Given the description of an element on the screen output the (x, y) to click on. 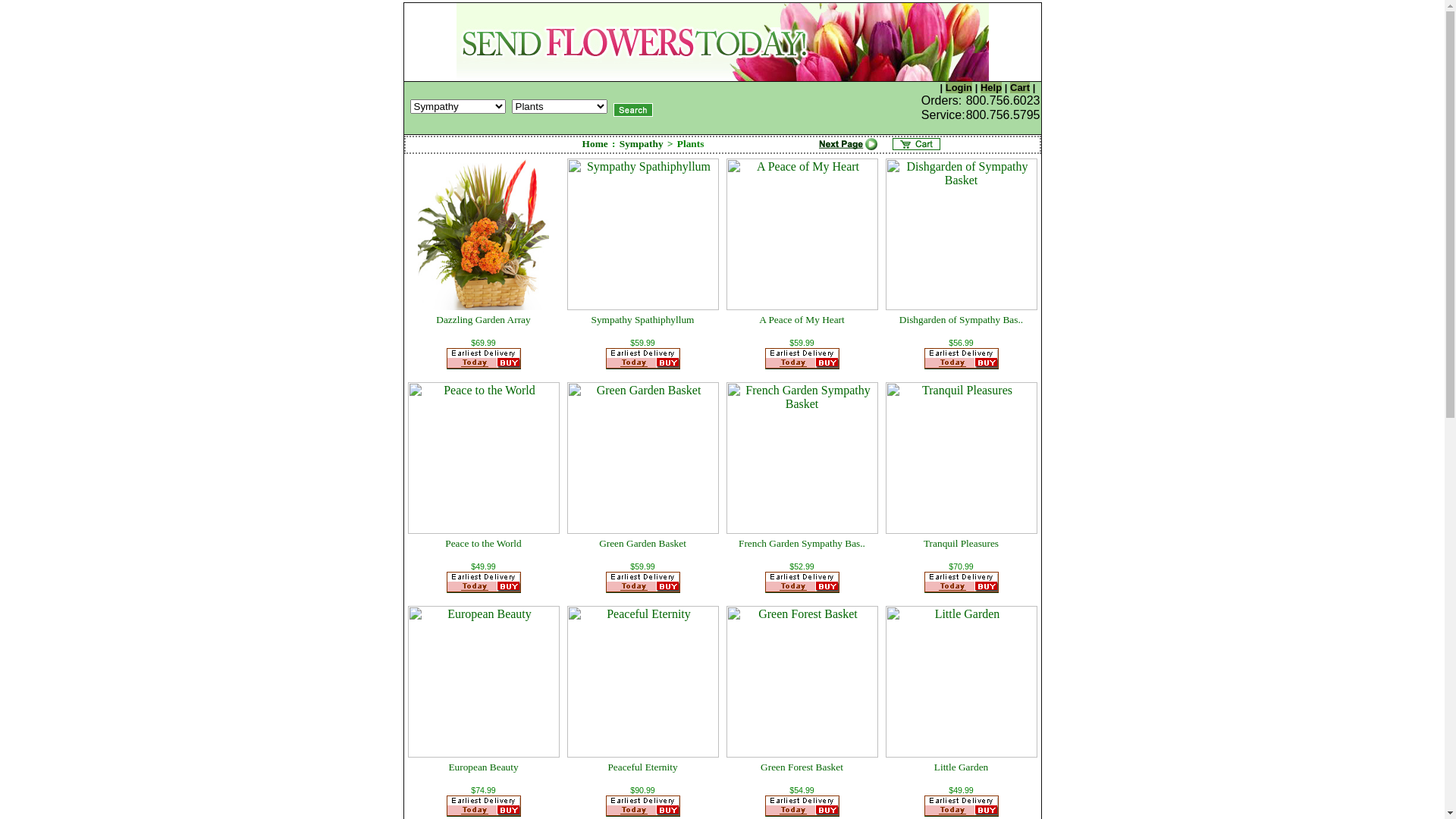
French Garden Sympathy Bas.. Element type: text (801, 543)
Cart Element type: text (1019, 87)
Sympathy Spathiphyllum Element type: text (642, 319)
Green Forest Basket Element type: text (801, 766)
Help Element type: text (990, 87)
A Peace of My Heart Element type: text (801, 319)
Login Element type: text (958, 87)
Home Element type: text (595, 143)
Green Garden Basket Element type: text (642, 543)
Tranquil Pleasures Element type: text (960, 543)
Peace to the World Element type: text (482, 543)
Dishgarden of Sympathy Bas.. Element type: text (960, 319)
Peaceful Eternity Element type: text (642, 766)
European Beauty Element type: text (482, 766)
Little Garden Element type: text (961, 766)
Sympathy Element type: text (641, 143)
Dazzling Garden Array Element type: text (483, 319)
